Given the description of an element on the screen output the (x, y) to click on. 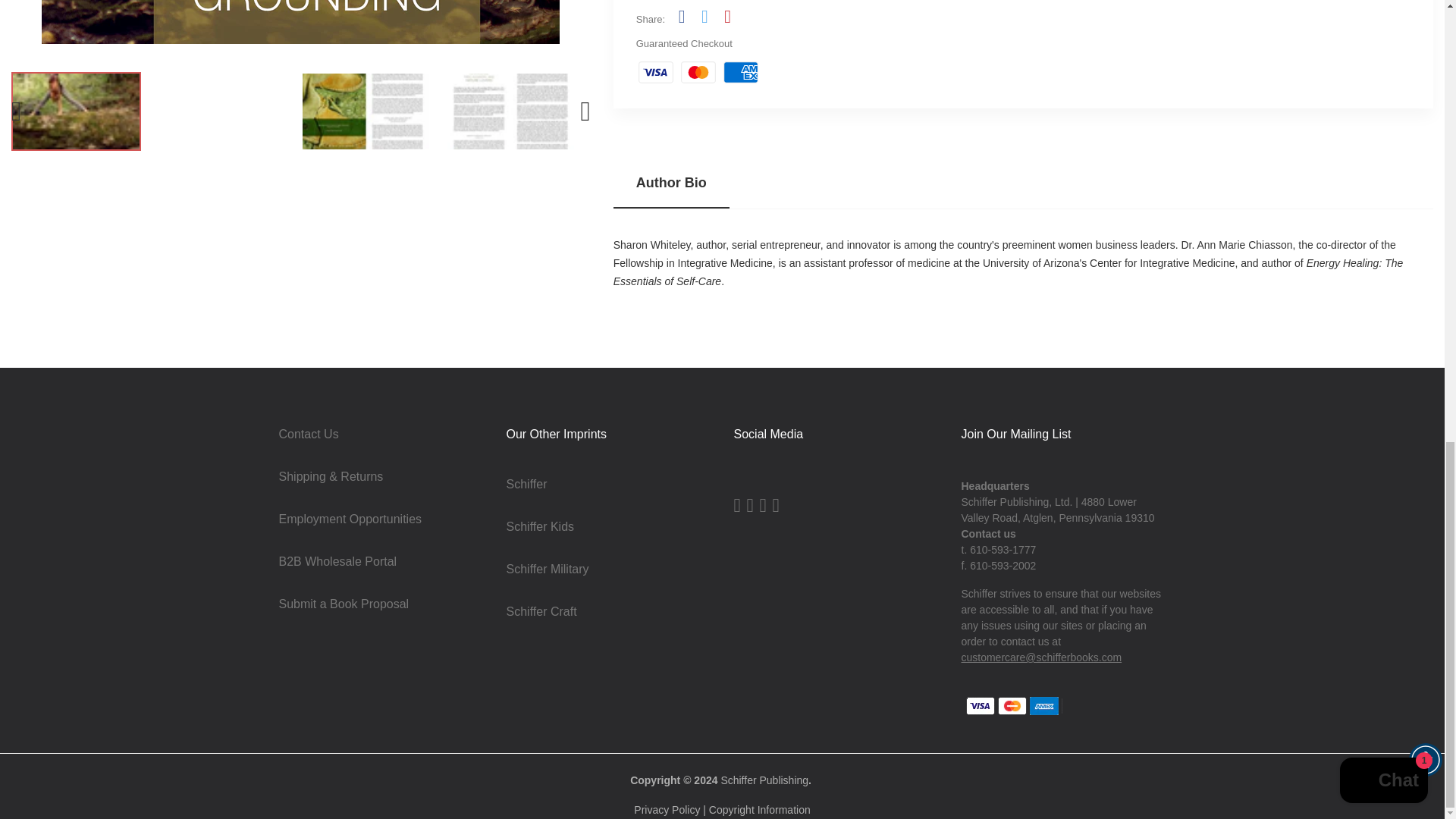
Follow us on Pinterest (726, 16)
Follow us on Facebook (681, 16)
Privacy Policy (666, 809)
Follow us on Twitter (704, 16)
TRADEMARKS, COPYRIGHTS, AND RESTRICTIONS (759, 809)
